Given the description of an element on the screen output the (x, y) to click on. 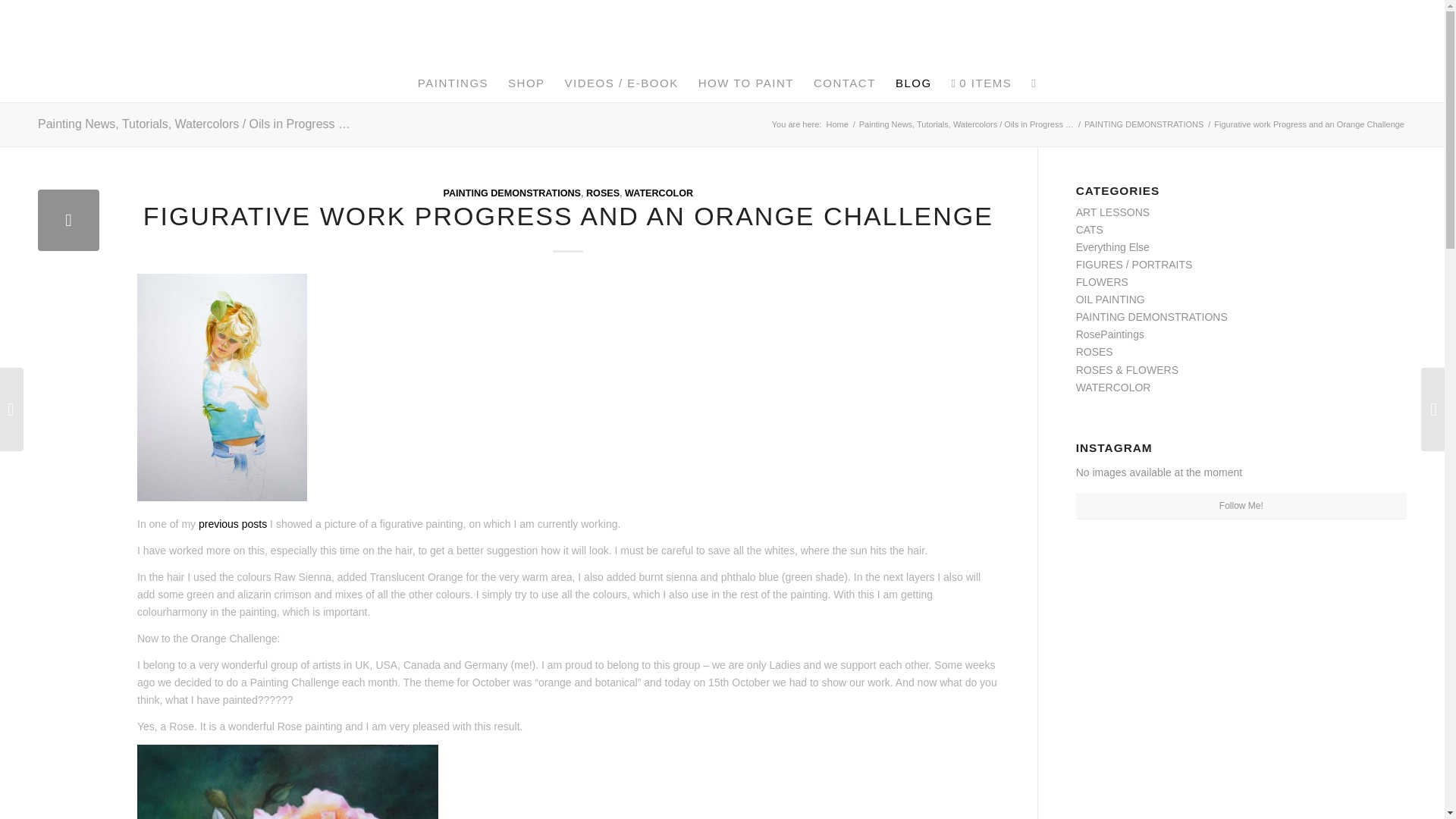
SHOP (525, 83)
WATERCOLOR (658, 193)
previous posts (232, 523)
Home (837, 124)
PAINTING DEMONSTRATIONS (1143, 124)
logoWebsite-large-aktuell (722, 32)
HOW TO PAINT (745, 83)
CONTACT (844, 83)
Start shopping (982, 83)
ROSES (603, 193)
